Given the description of an element on the screen output the (x, y) to click on. 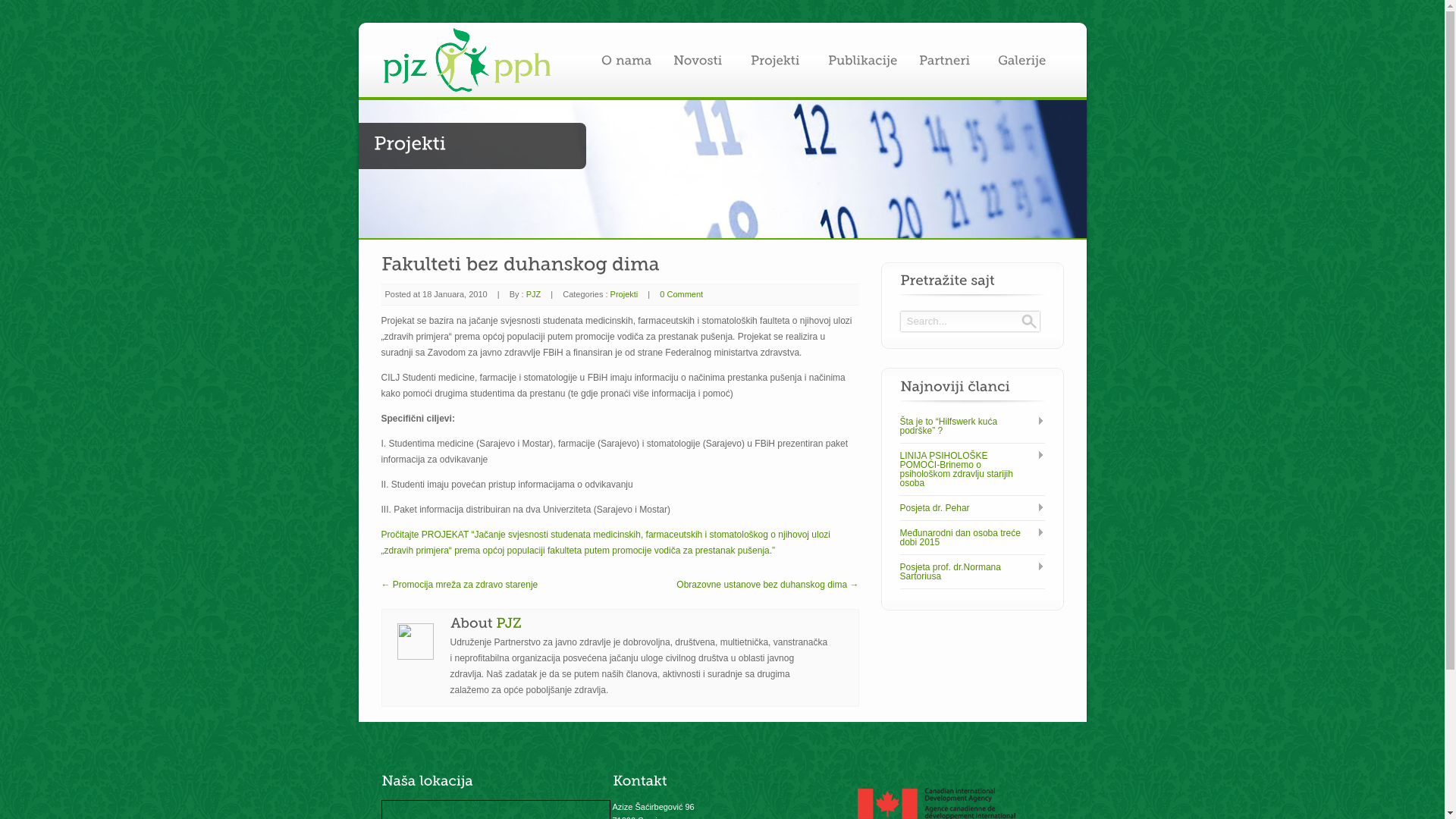
PJZ Element type: text (533, 293)
0 Comment Element type: text (680, 293)
Posjeta prof. dr.Normana Sartoriusa Element type: text (971, 571)
Posjeta dr. Pehar Element type: text (971, 507)
Projekti Element type: text (624, 293)
